Given the description of an element on the screen output the (x, y) to click on. 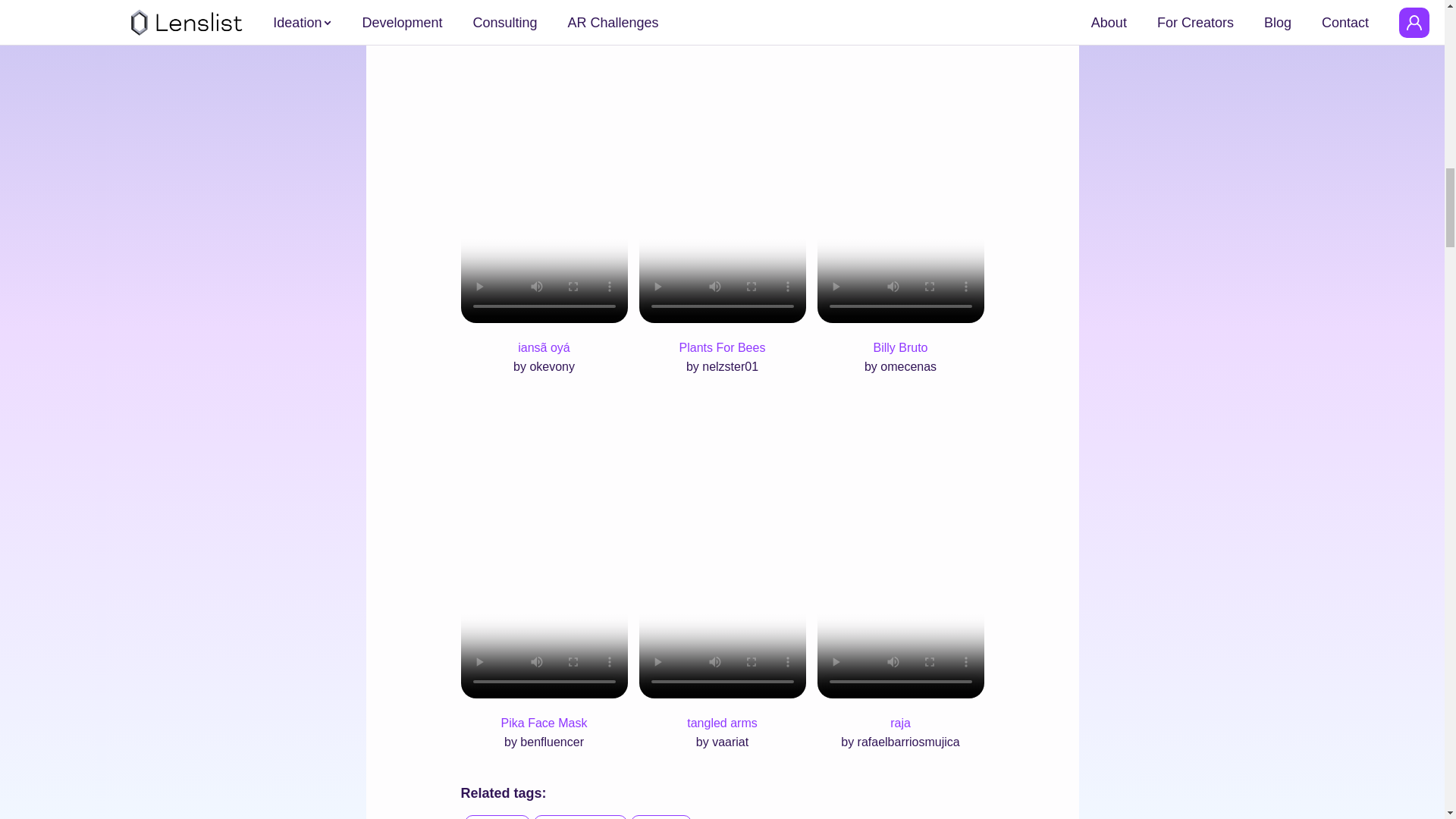
Plants For Bees (721, 347)
tangled arms (721, 722)
Billy Bruto (899, 347)
Pika Face Mask (544, 722)
raja (900, 722)
